Given the description of an element on the screen output the (x, y) to click on. 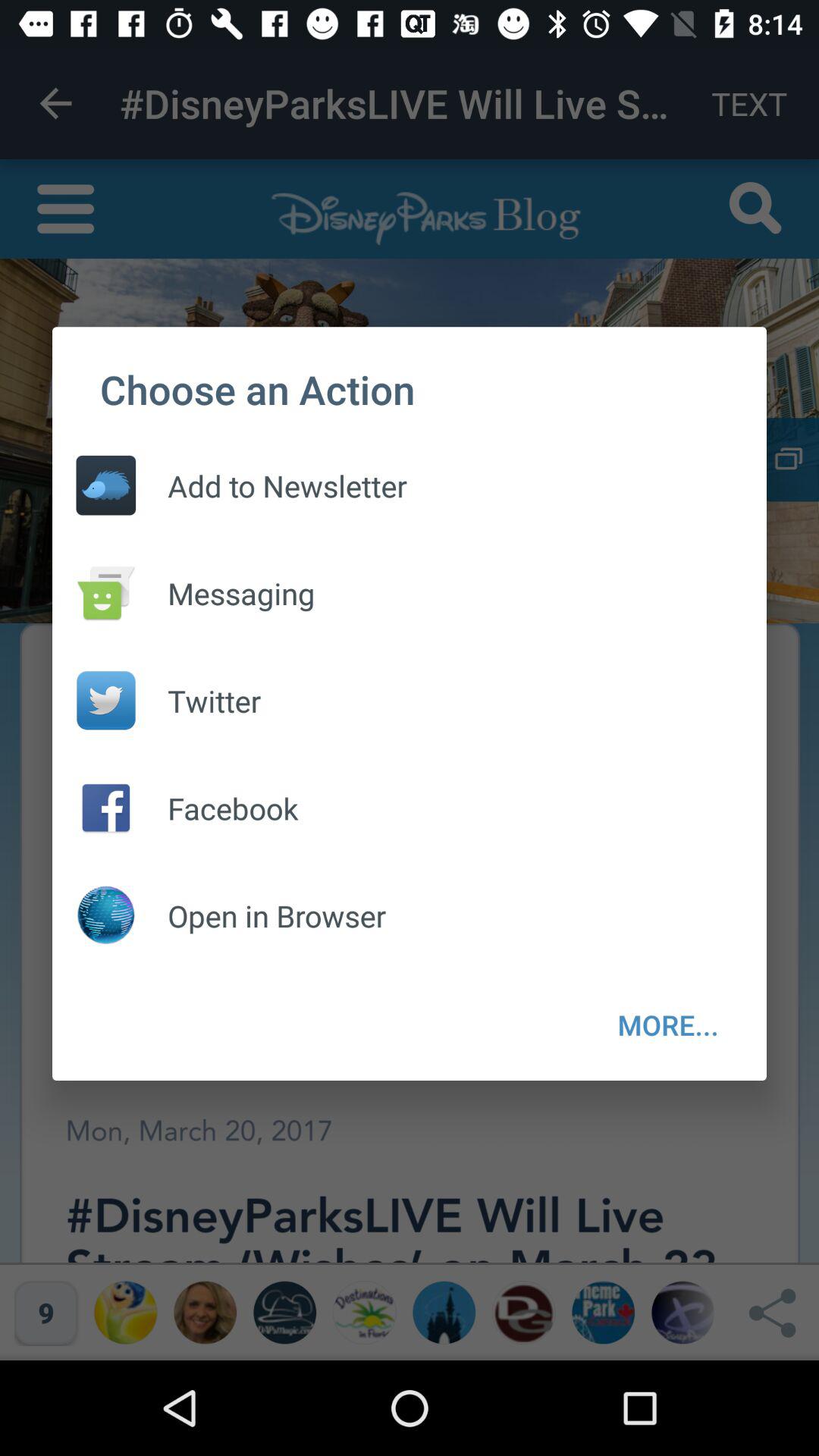
flip to the messaging (225, 593)
